Given the description of an element on the screen output the (x, y) to click on. 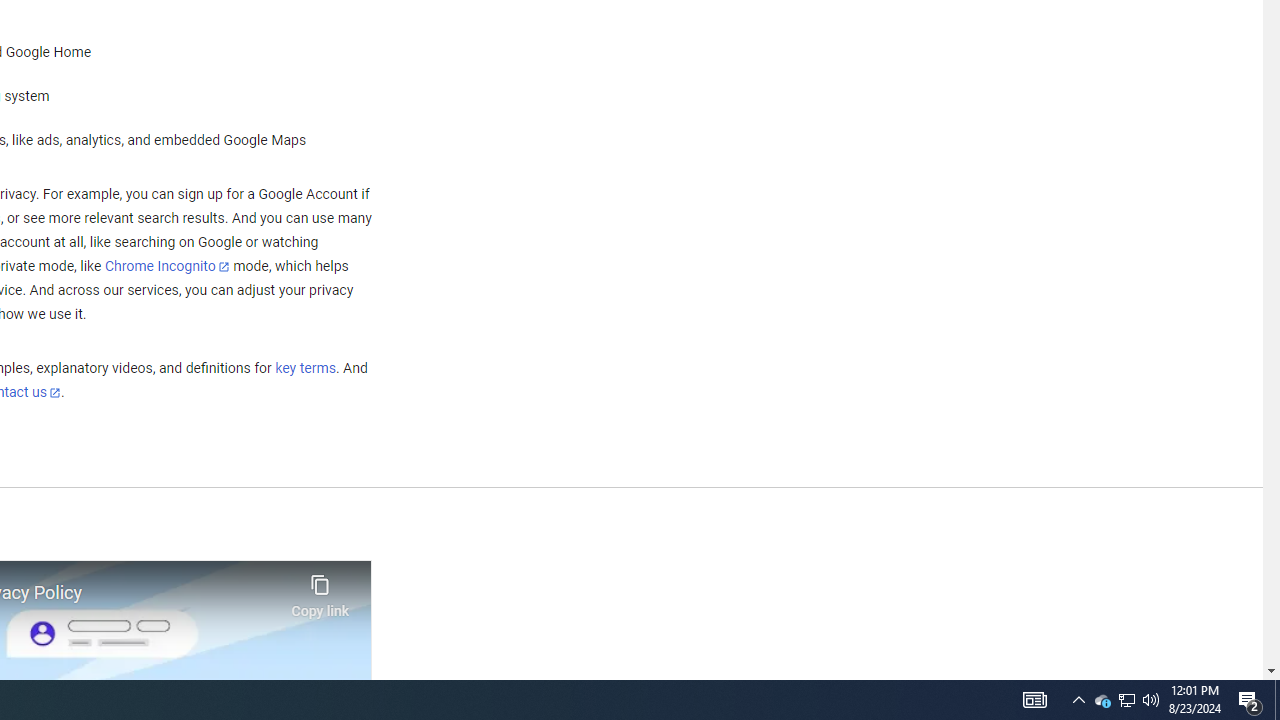
key terms (305, 369)
Chrome Incognito (166, 266)
Copy link (319, 591)
